Given the description of an element on the screen output the (x, y) to click on. 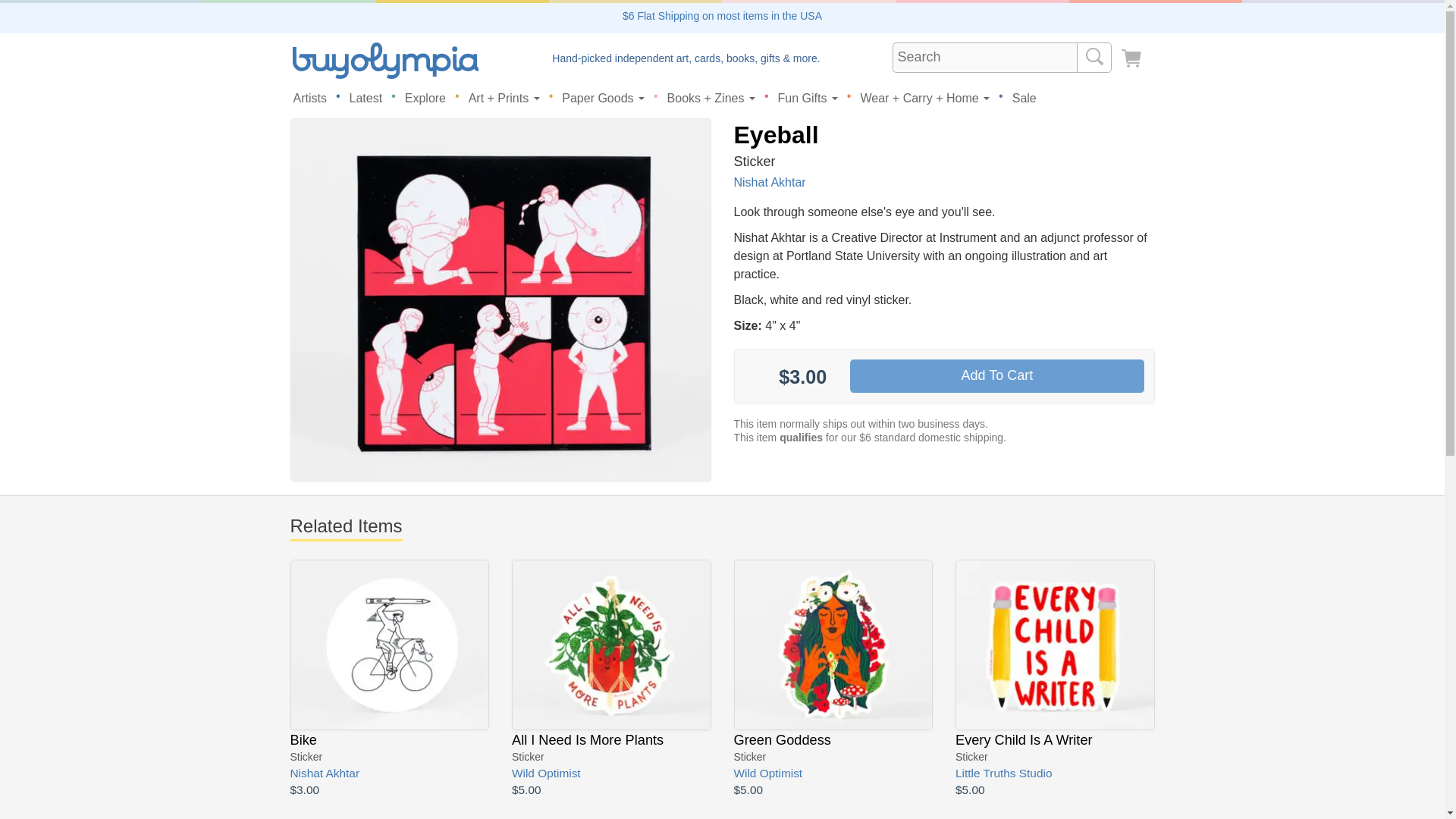
Add To Cart (996, 375)
Paper Goods (603, 97)
Artists (308, 97)
Fun Gifts (807, 97)
Explore (425, 97)
Latest (365, 97)
